Given the description of an element on the screen output the (x, y) to click on. 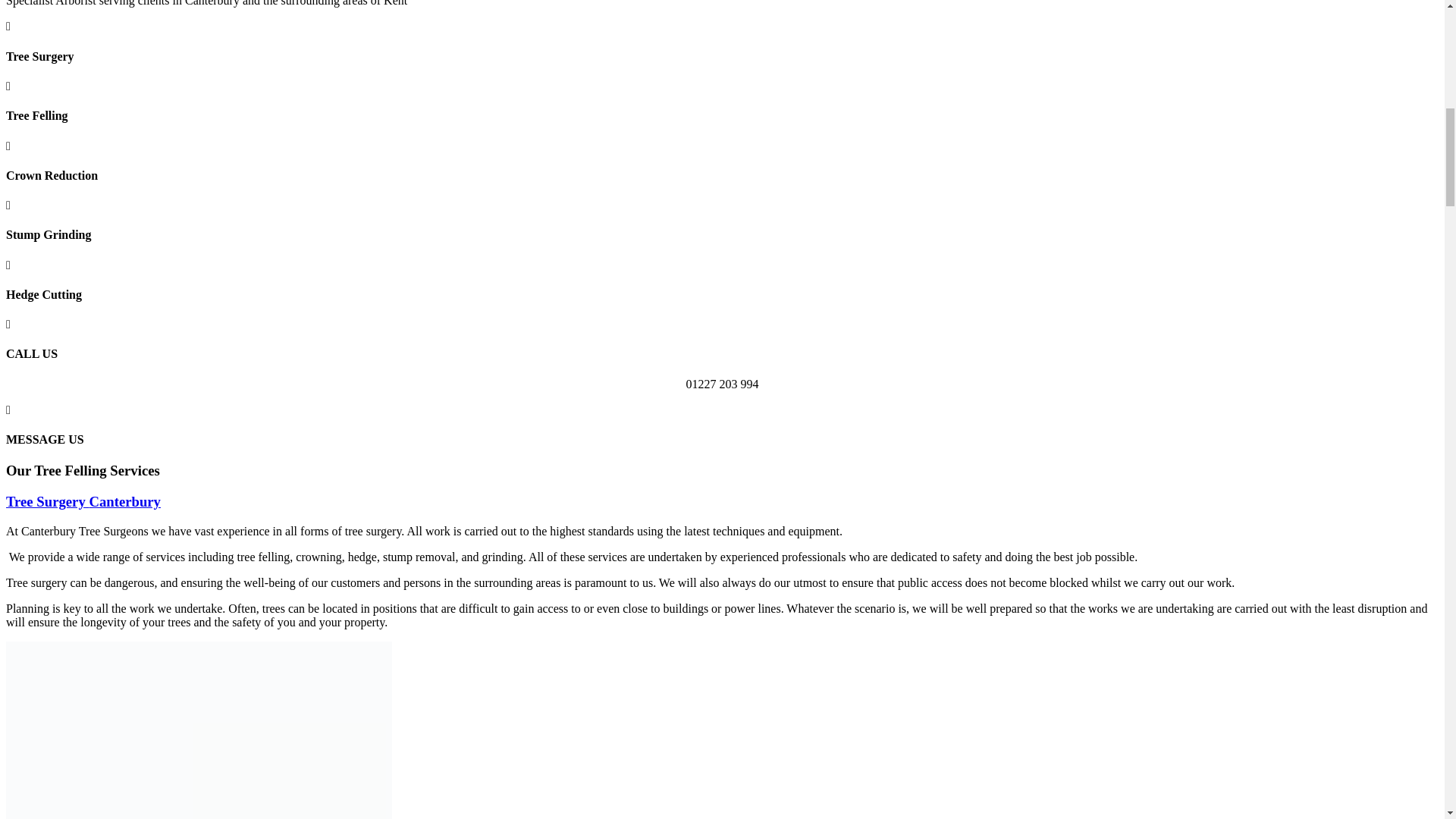
Tree Surgery Canterbury (82, 501)
3 (198, 730)
